Given the description of an element on the screen output the (x, y) to click on. 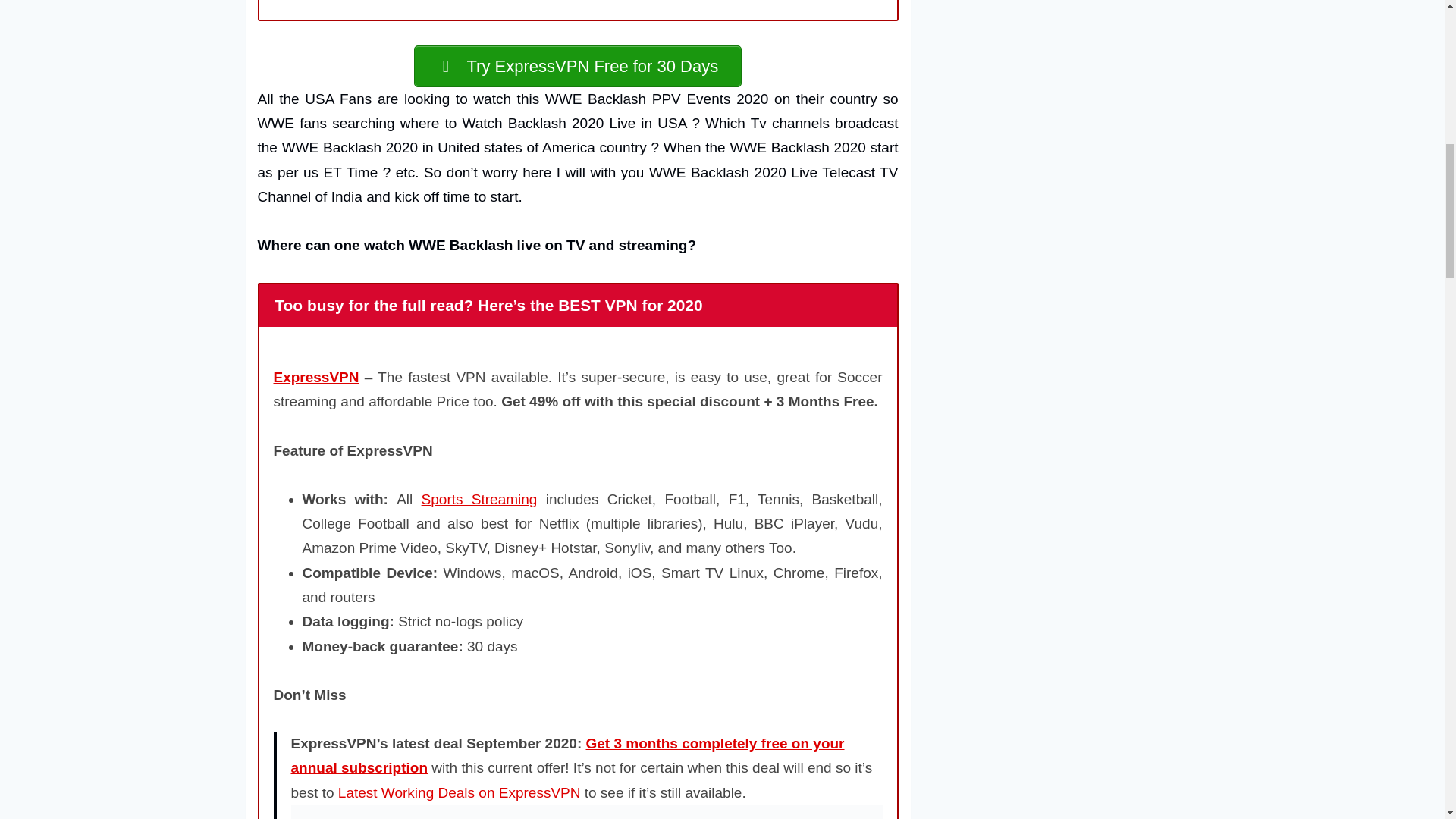
expressvpn sports (479, 498)
ExpressVPN Order (567, 755)
ExpressVPN (315, 376)
Sports Streaming (479, 498)
Try ExpressVPN Free for 30 Days (577, 65)
ExpressVPN (315, 376)
ExpressVPN Trial (577, 65)
Get 3 months completely free on your annual subscription (567, 755)
Latest Working Deals on ExpressVPN (458, 792)
ExpressVPN Order (586, 812)
